Given the description of an element on the screen output the (x, y) to click on. 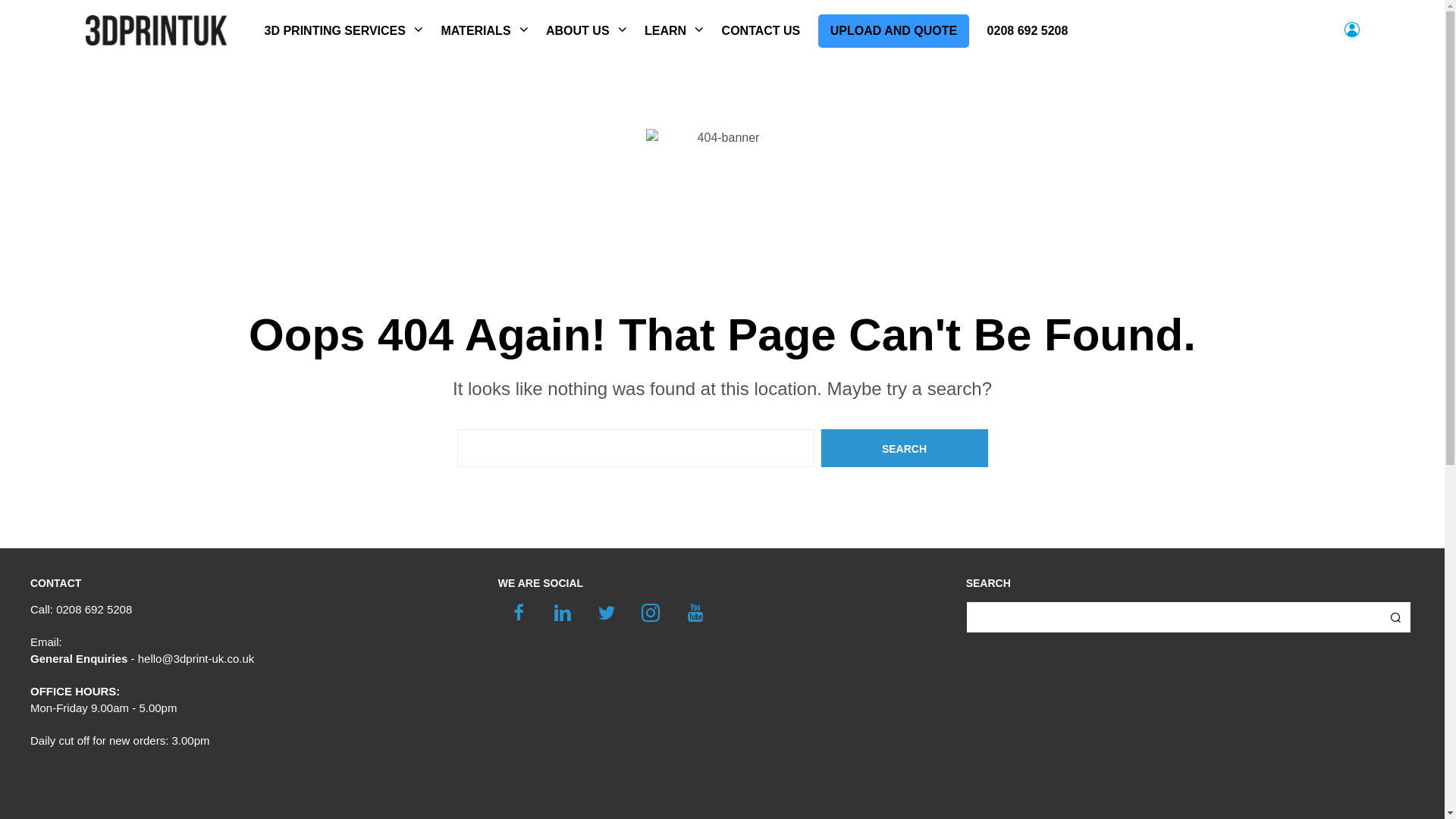
Search Element type: text (1395, 617)
3D PRINTING SERVICES Element type: text (335, 30)
hello@3dprint-uk.co.uk Element type: text (196, 658)
MATERIALS Element type: text (475, 30)
CONTACT US Element type: text (761, 30)
ABOUT US Element type: text (577, 30)
0208 692 5208 Element type: text (1027, 30)
Search Element type: text (903, 448)
LEARN Element type: text (665, 30)
UPLOAD AND QUOTE Element type: text (893, 30)
